Given the description of an element on the screen output the (x, y) to click on. 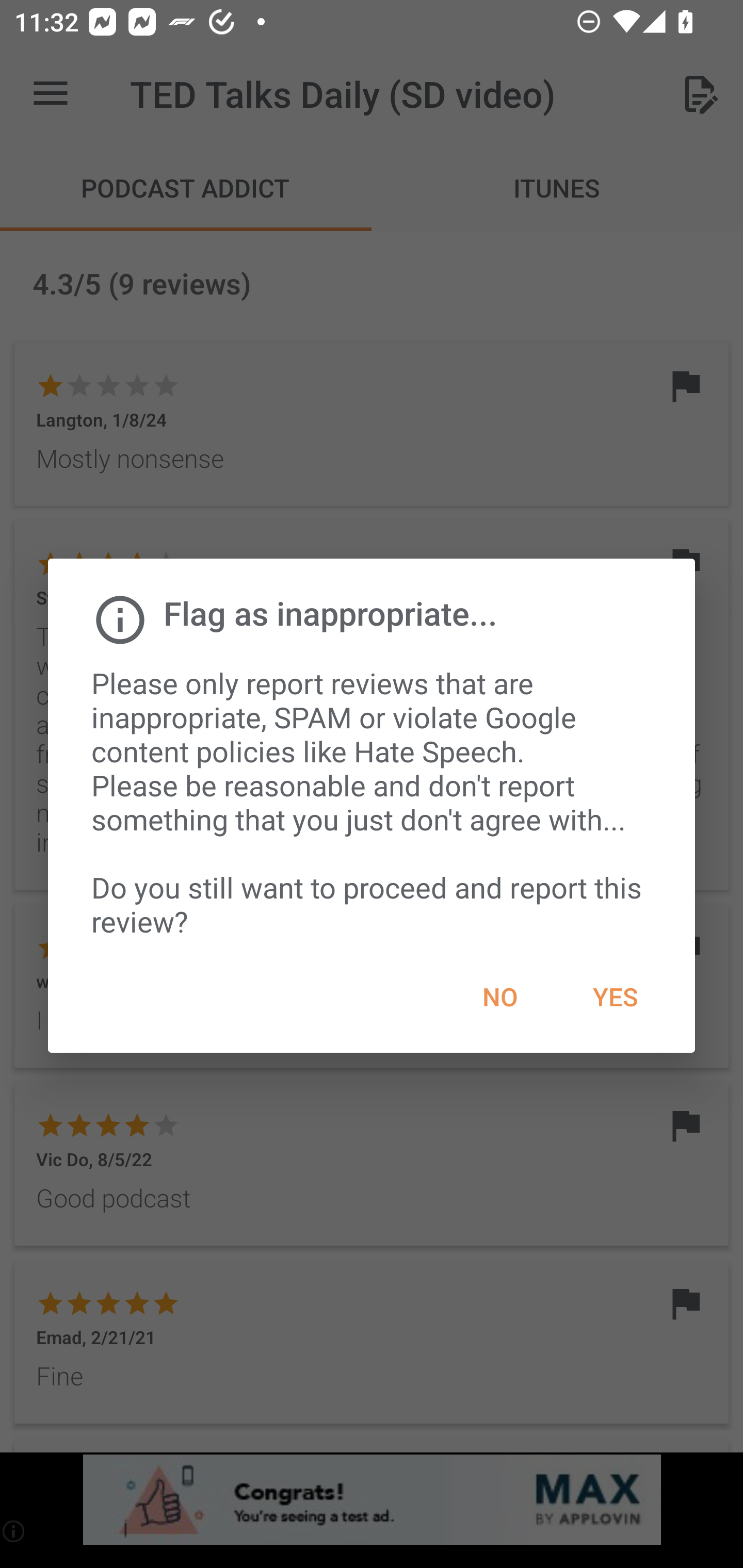
NO (499, 996)
YES (615, 996)
